Given the description of an element on the screen output the (x, y) to click on. 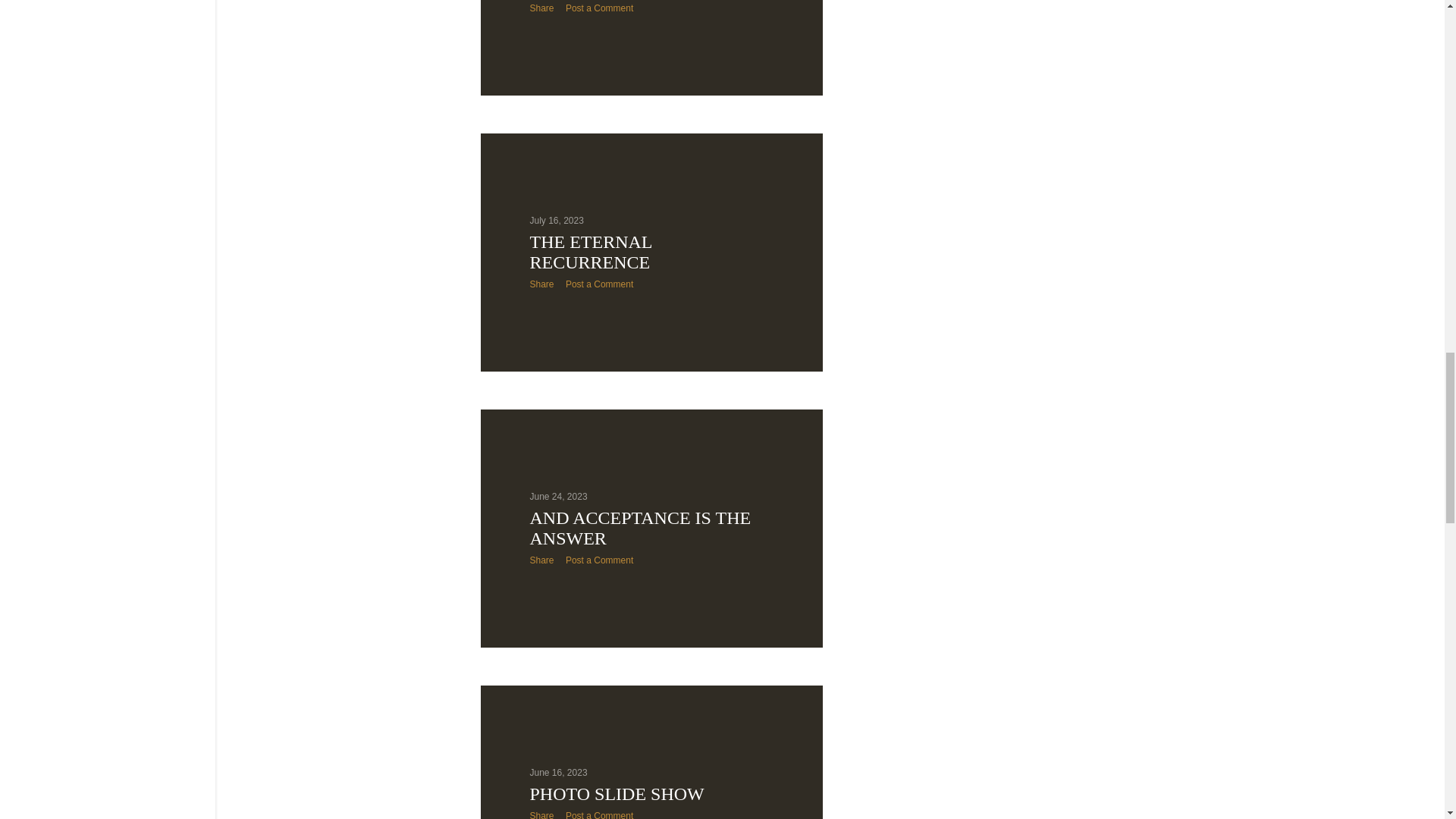
Share (541, 560)
Post a Comment (599, 560)
June 24, 2023 (557, 496)
Share (541, 814)
June 16, 2023 (557, 772)
Post a Comment (599, 8)
Post a Comment (599, 284)
THE ETERNAL RECURRENCE (589, 251)
PHOTO SLIDE SHOW (616, 793)
Share (541, 284)
Share (541, 8)
AND ACCEPTANCE IS THE ANSWER (640, 527)
July 16, 2023 (556, 220)
Post a Comment (599, 814)
